Given the description of an element on the screen output the (x, y) to click on. 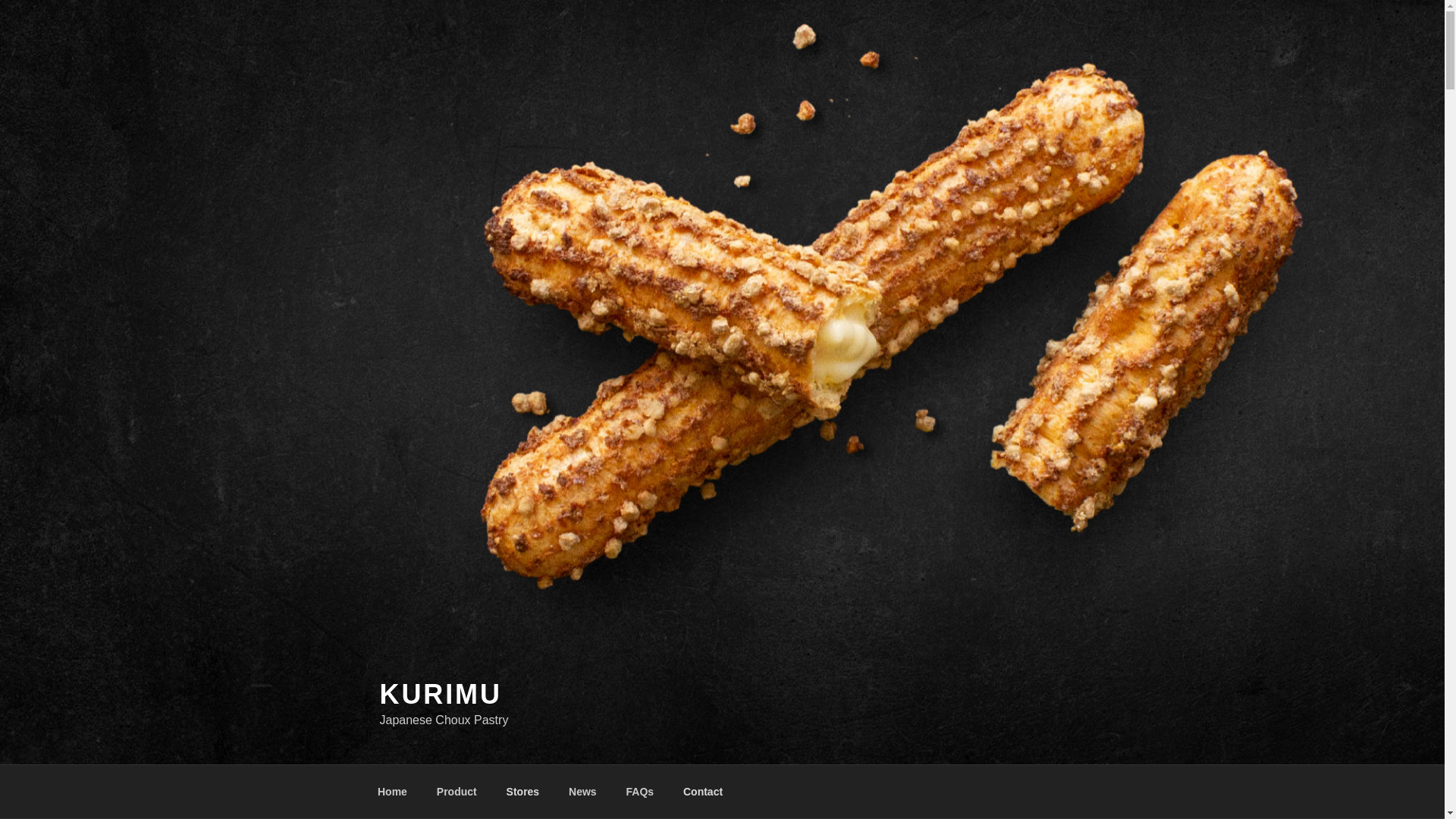
KURIMU (439, 694)
Stores (523, 791)
News (583, 791)
Home (392, 791)
Product (456, 791)
Contact (702, 791)
Scroll down to content (1082, 791)
Scroll down to content (1082, 791)
FAQs (639, 791)
